Given the description of an element on the screen output the (x, y) to click on. 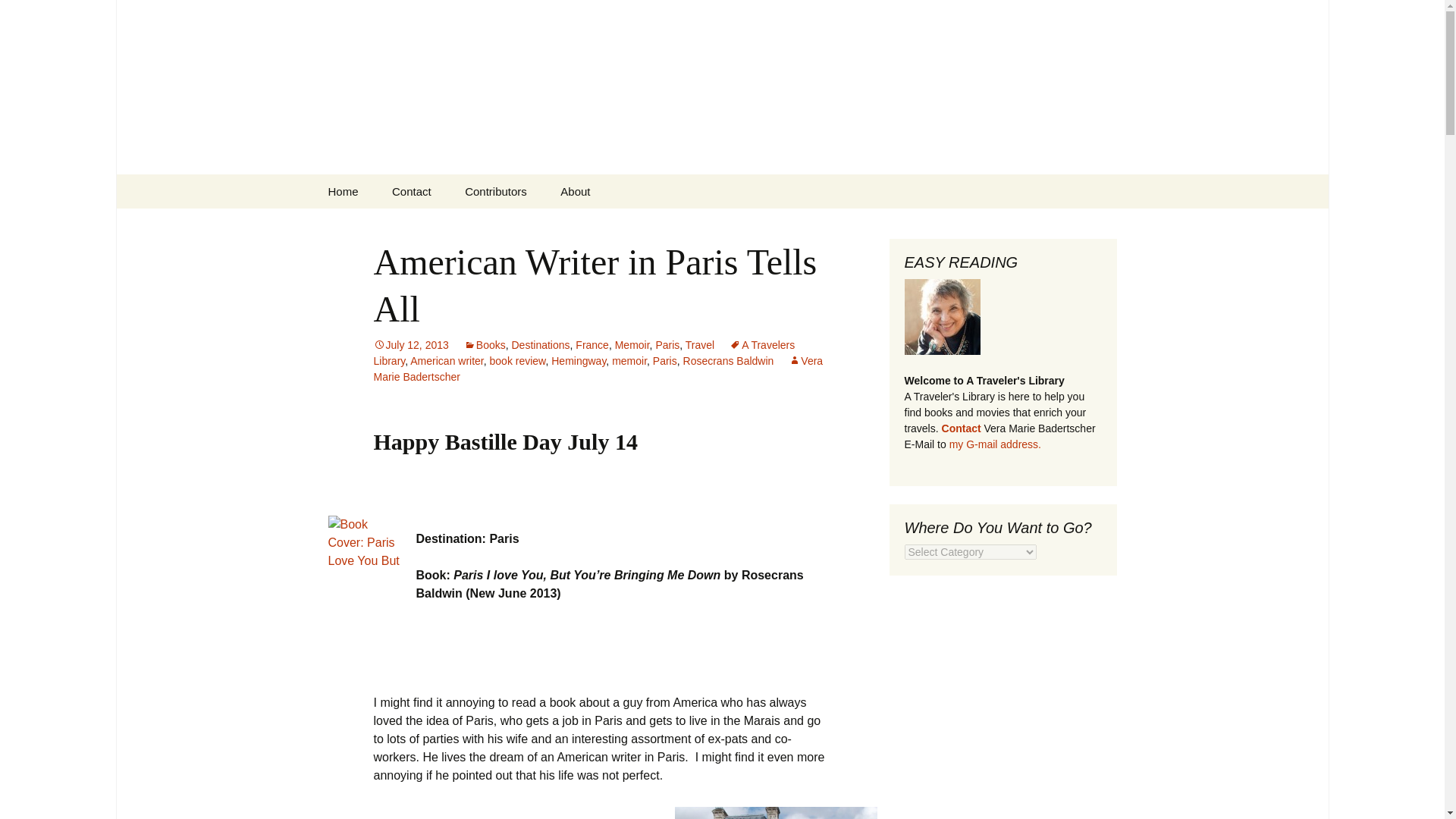
Destinations (540, 345)
Paris (664, 360)
Luxembourg Gardens Relaxation (776, 812)
Contributors (495, 191)
American writer (446, 360)
Contact (411, 191)
A Travelers Library (583, 352)
July 12, 2013 (410, 345)
memoir (628, 360)
